Given the description of an element on the screen output the (x, y) to click on. 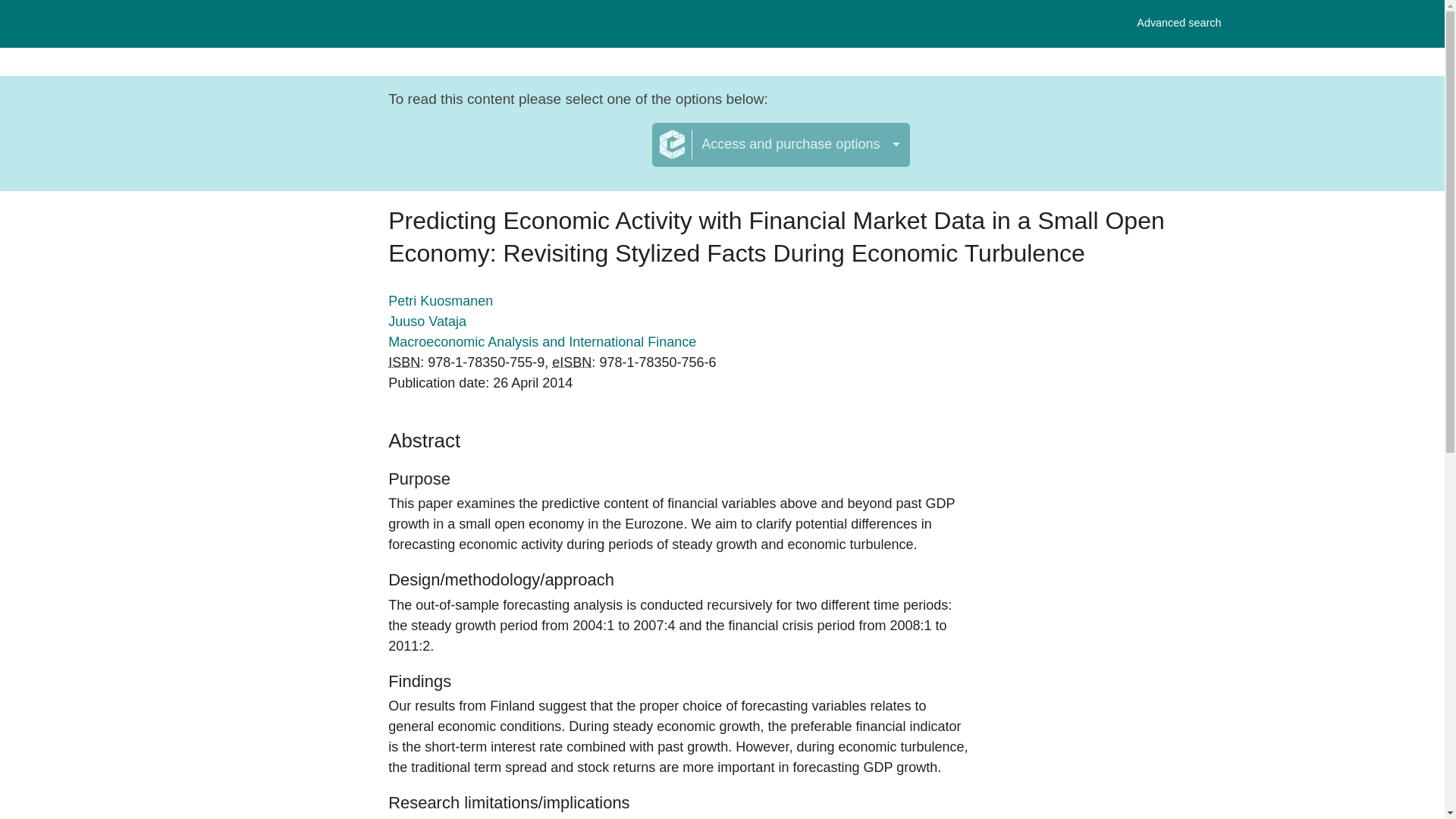
Juuso Vataja (426, 321)
Petri Kuosmanen (440, 300)
Macroeconomic Analysis and International Finance (541, 341)
Access through your institution (513, 153)
Access and purchase options (781, 144)
International Standard Book Number. (1178, 23)
